Given the description of an element on the screen output the (x, y) to click on. 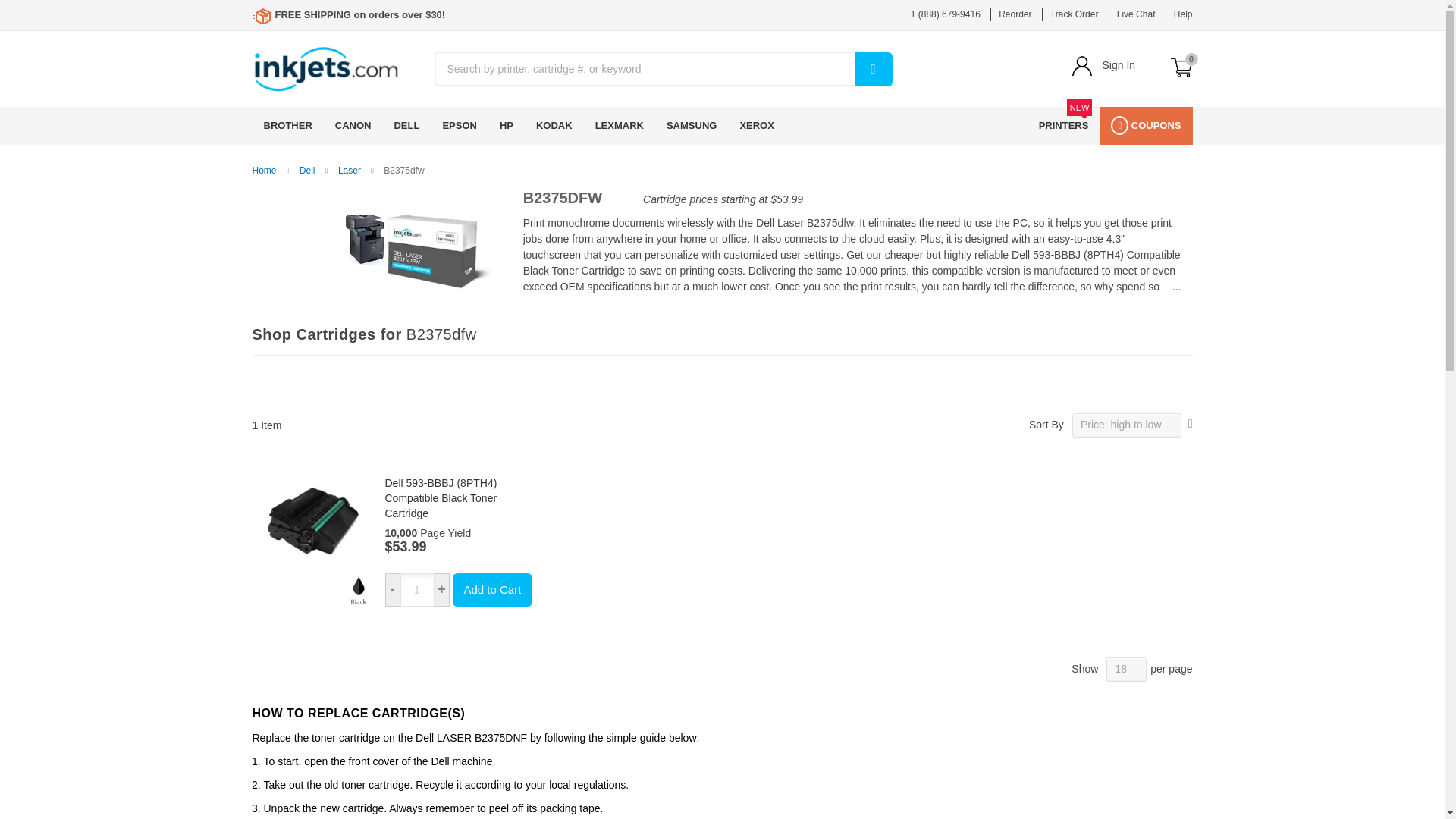
Sign In (1118, 64)
BROTHER (287, 125)
Qty (416, 589)
Live Chat (1136, 14)
COUPONS (1145, 125)
Add to Cart (491, 589)
EPSON (458, 125)
Laser (349, 170)
LEXMARK (619, 125)
SAMSUNG (691, 125)
KODAK (553, 125)
CANON (352, 125)
Dell (307, 170)
XEROX (757, 125)
B2375dfw (383, 241)
